Given the description of an element on the screen output the (x, y) to click on. 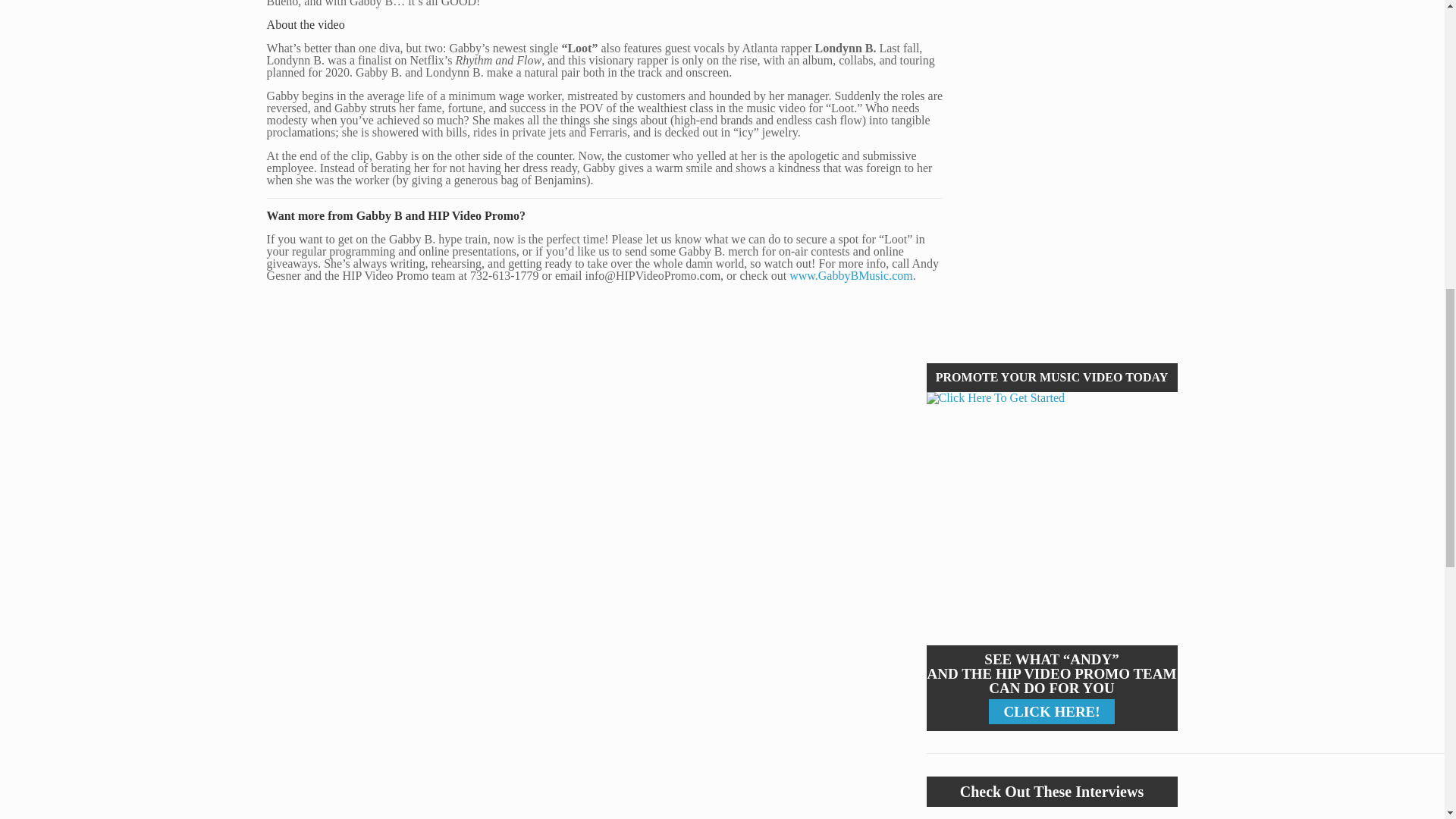
www.GabbyBMusic.com (850, 275)
Click Here To Get Started (1051, 518)
CLICK HERE! (1051, 711)
